Given the description of an element on the screen output the (x, y) to click on. 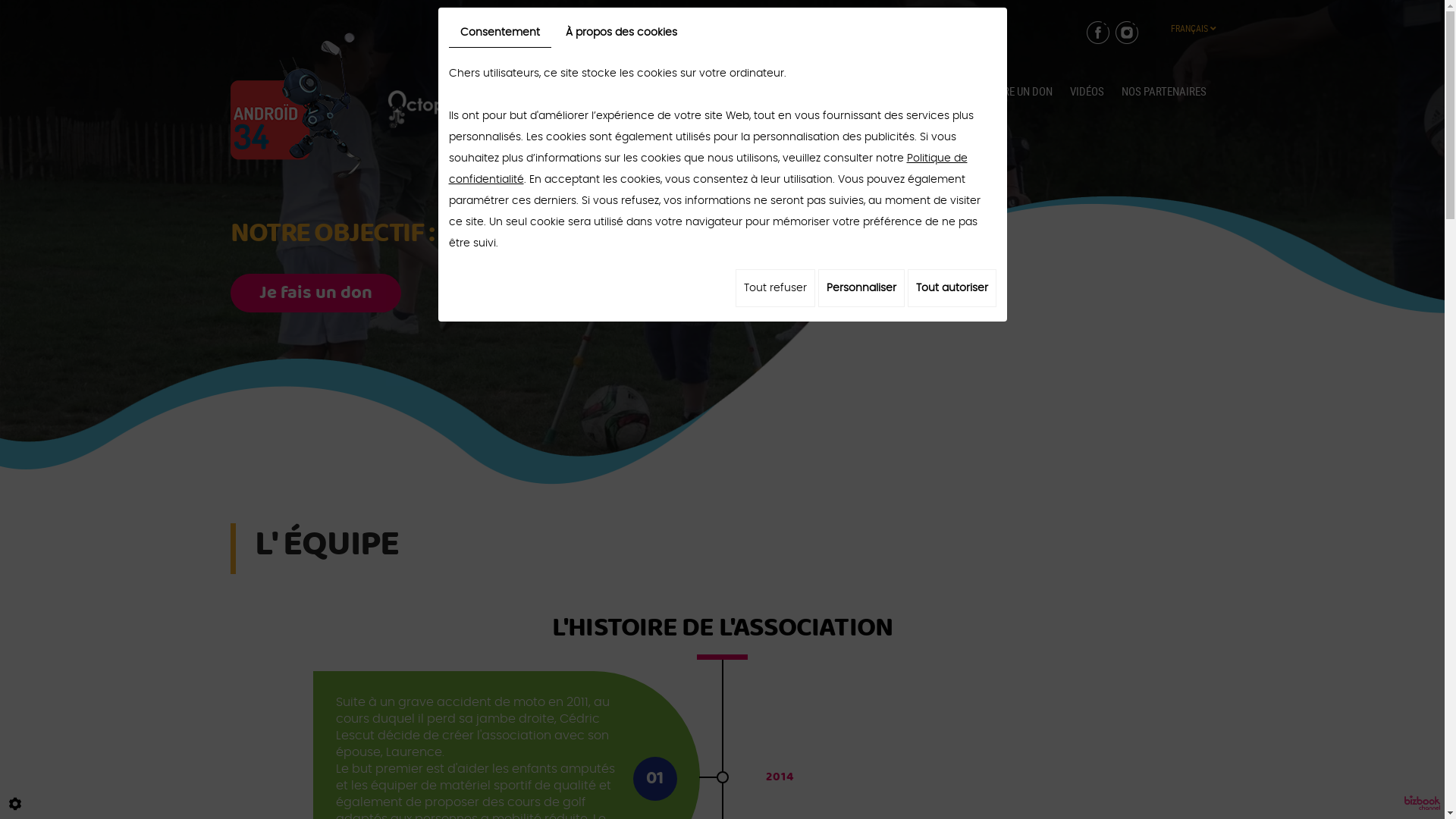
Tout refuser Element type: text (775, 288)
ECOLE Element type: text (690, 91)
Consentement Element type: text (499, 32)
NOTRE MISSION Element type: text (563, 91)
FAIRE UN DON Element type: text (1020, 91)
LE FONDATEUR Element type: text (836, 91)
Je fais un don Element type: text (315, 294)
Tout autoriser Element type: text (950, 288)
NOS PARTENAIRES Element type: text (1163, 91)
LES ENFANTS Element type: text (753, 91)
Personnaliser Element type: text (860, 288)
